Given the description of an element on the screen output the (x, y) to click on. 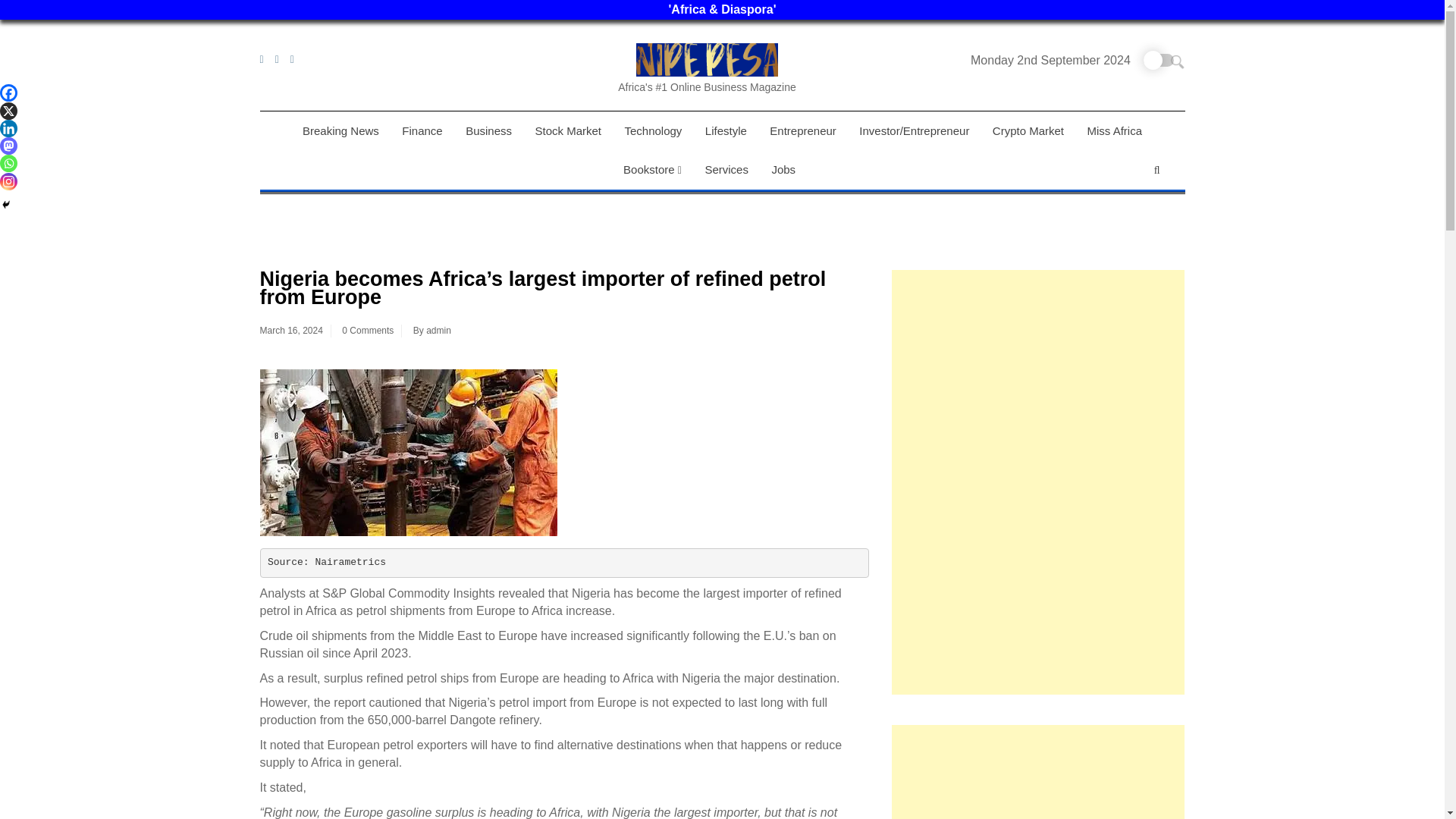
Whatsapp (8, 162)
Breaking News (340, 130)
Services (726, 169)
Crypto Market (1028, 130)
Business (488, 130)
Miss Africa (1114, 130)
Instagram (8, 181)
X (8, 110)
Jobs (783, 169)
Facebook (8, 92)
